Given the description of an element on the screen output the (x, y) to click on. 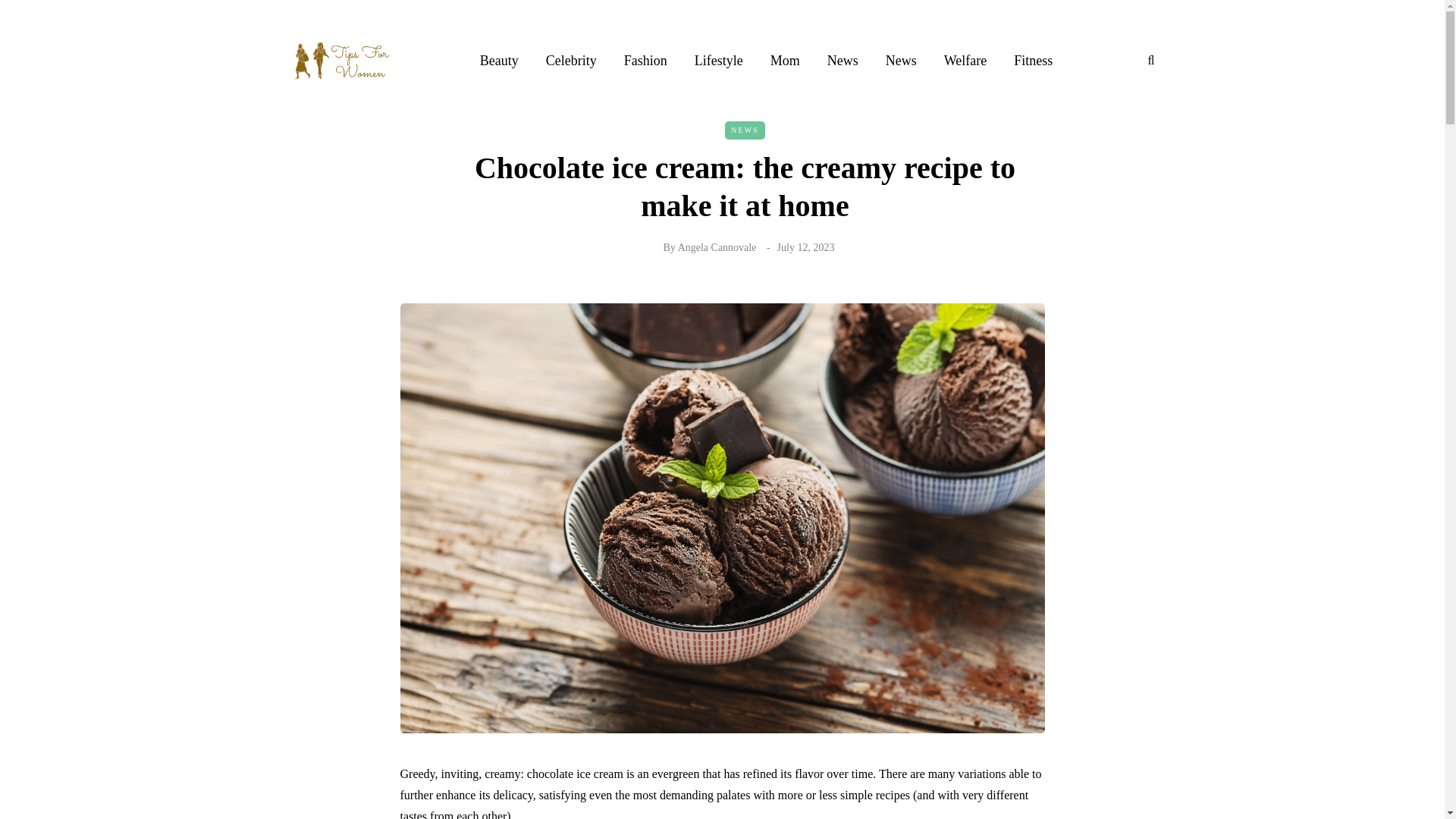
News (901, 60)
Fashion (645, 60)
Posts by Angela Cannovale (717, 246)
News (842, 60)
NEWS (744, 130)
Lifestyle (719, 60)
Celebrity (571, 60)
Beauty (498, 60)
Welfare (965, 60)
Fitness (1032, 60)
